Given the description of an element on the screen output the (x, y) to click on. 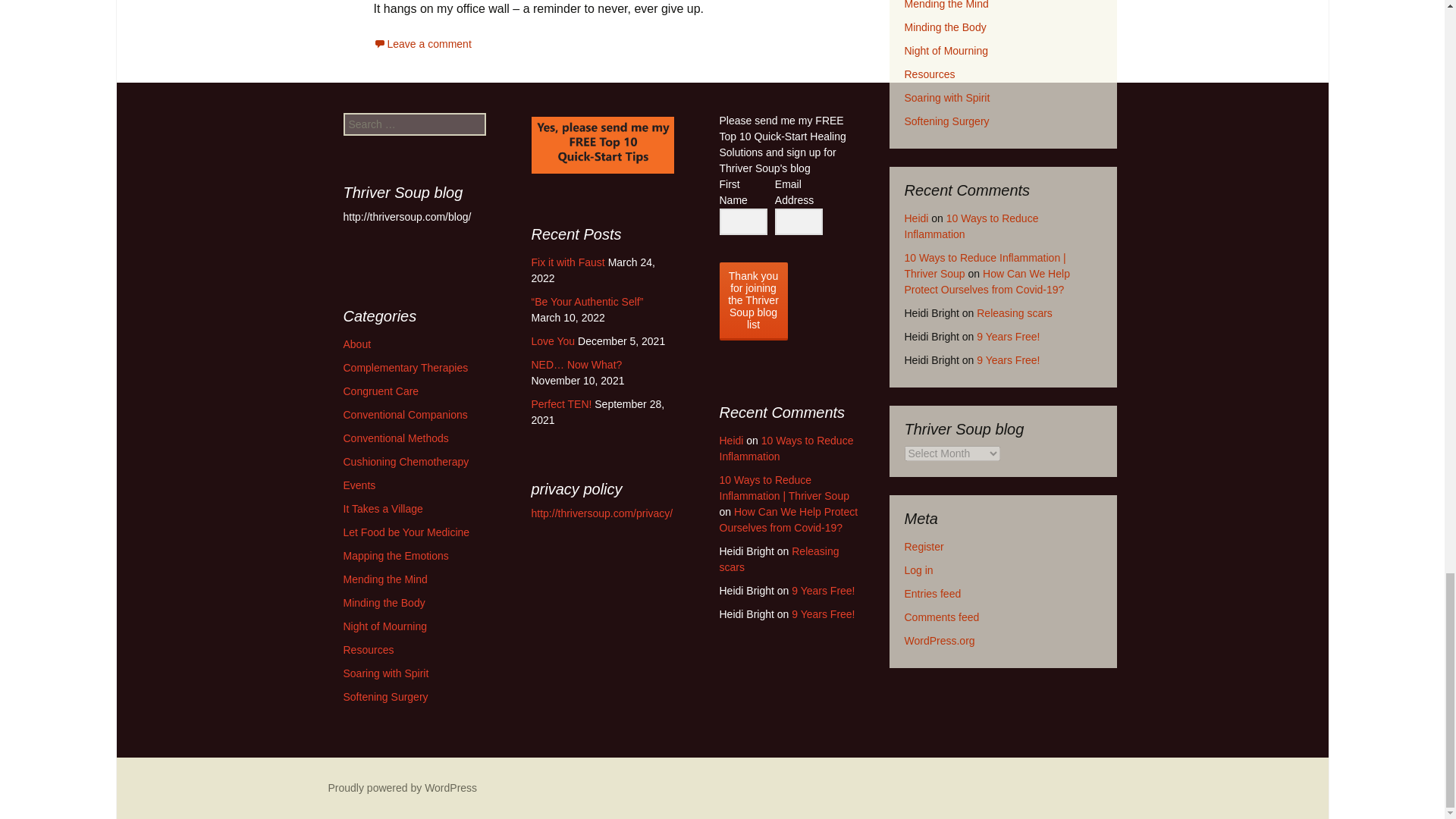
Leave a comment (421, 43)
